Given the description of an element on the screen output the (x, y) to click on. 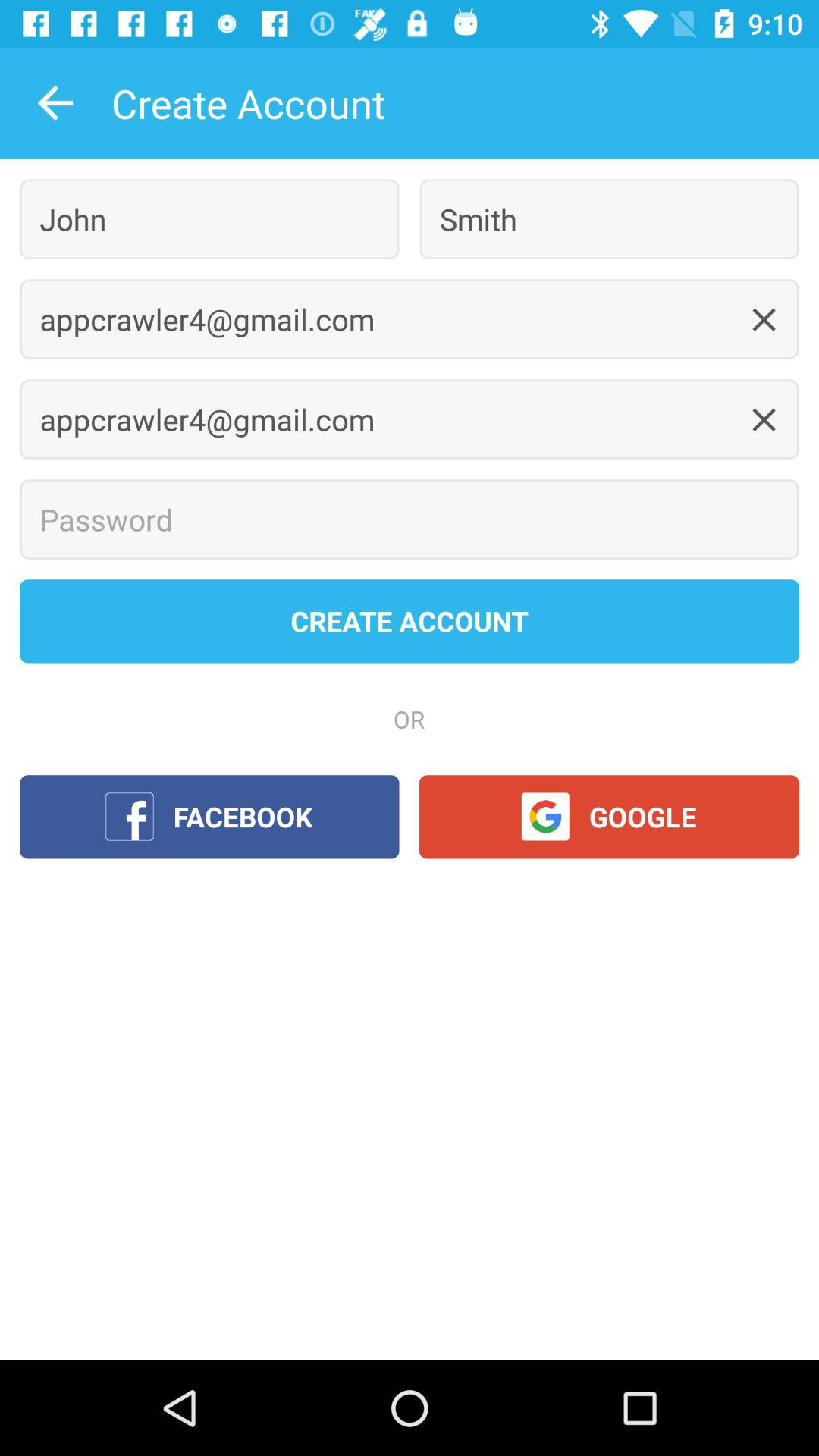
enter password for login (409, 519)
